Given the description of an element on the screen output the (x, y) to click on. 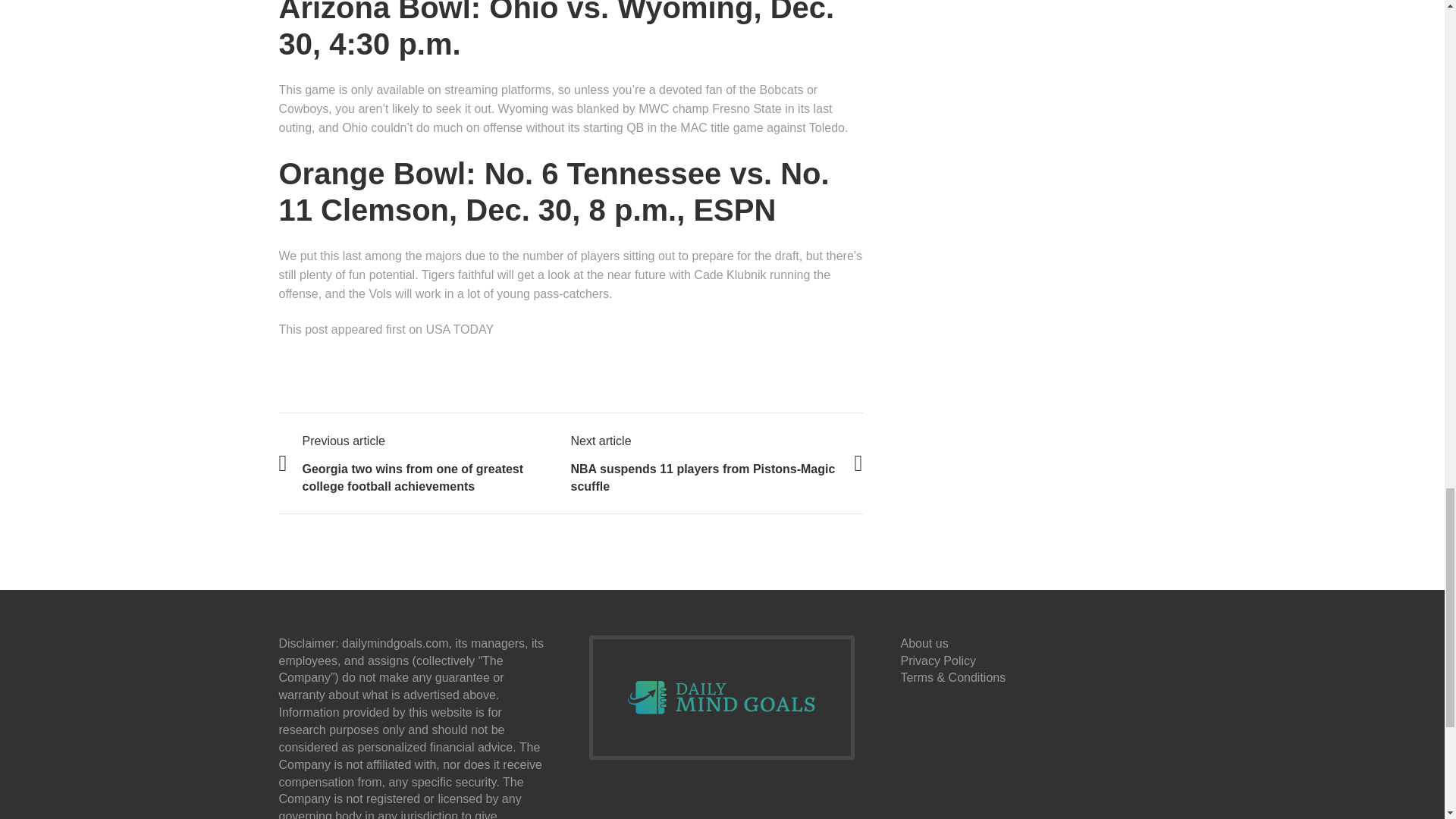
Privacy Policy (937, 660)
About us (923, 643)
